Given the description of an element on the screen output the (x, y) to click on. 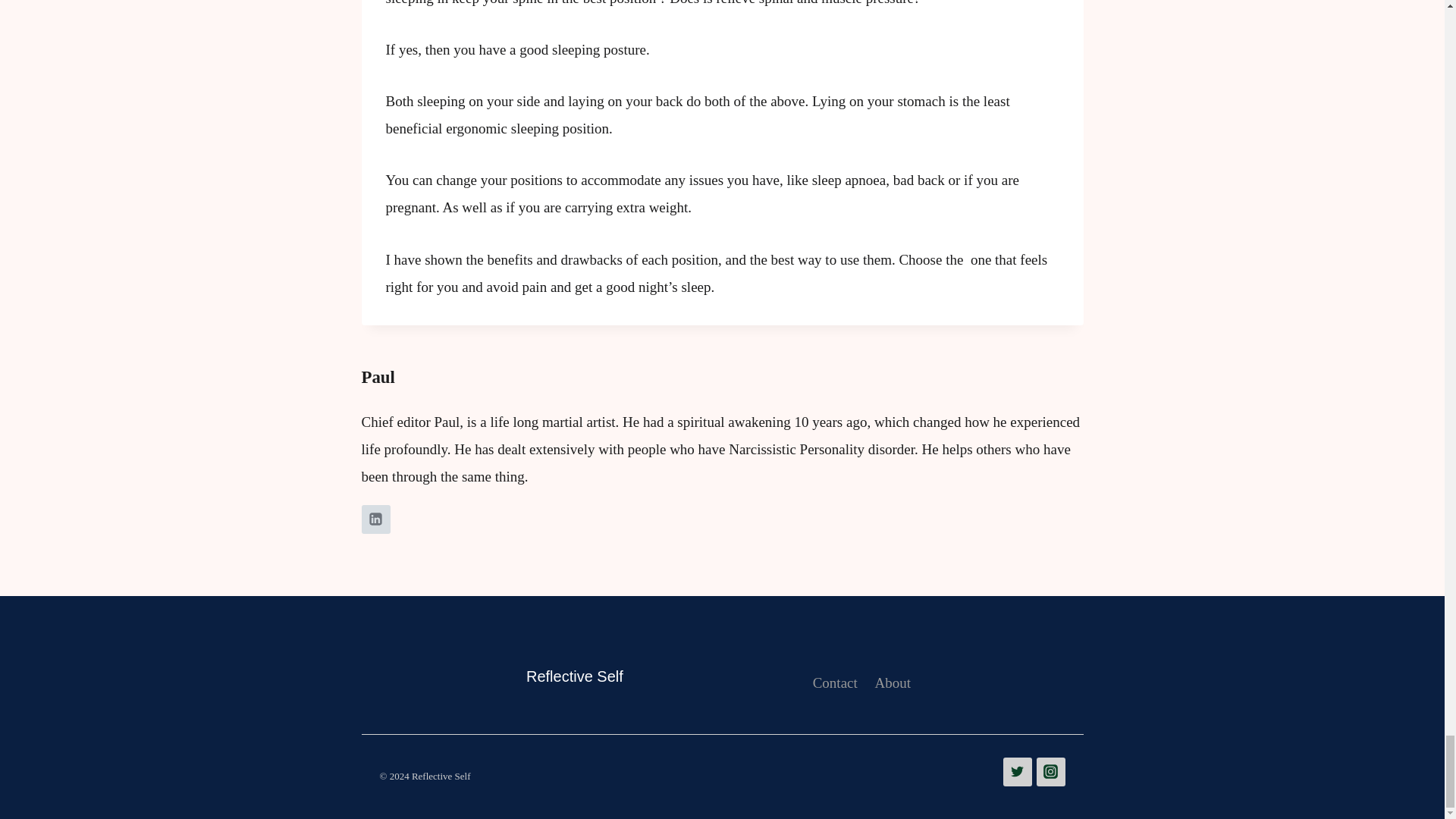
Follow Paul on Linkedin (375, 519)
About (892, 683)
Paul (377, 376)
Posts by Paul (377, 376)
Contact (834, 683)
